Given the description of an element on the screen output the (x, y) to click on. 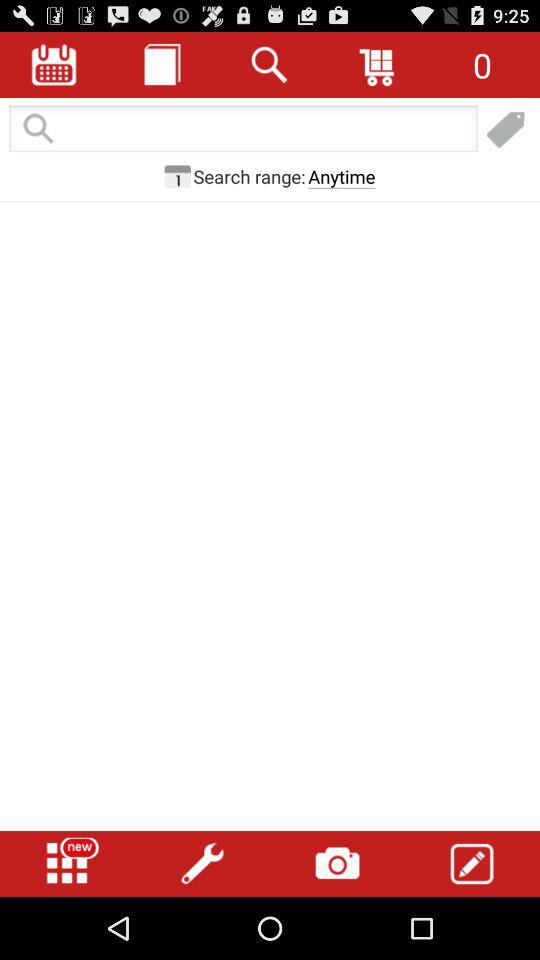
make a note (472, 863)
